Given the description of an element on the screen output the (x, y) to click on. 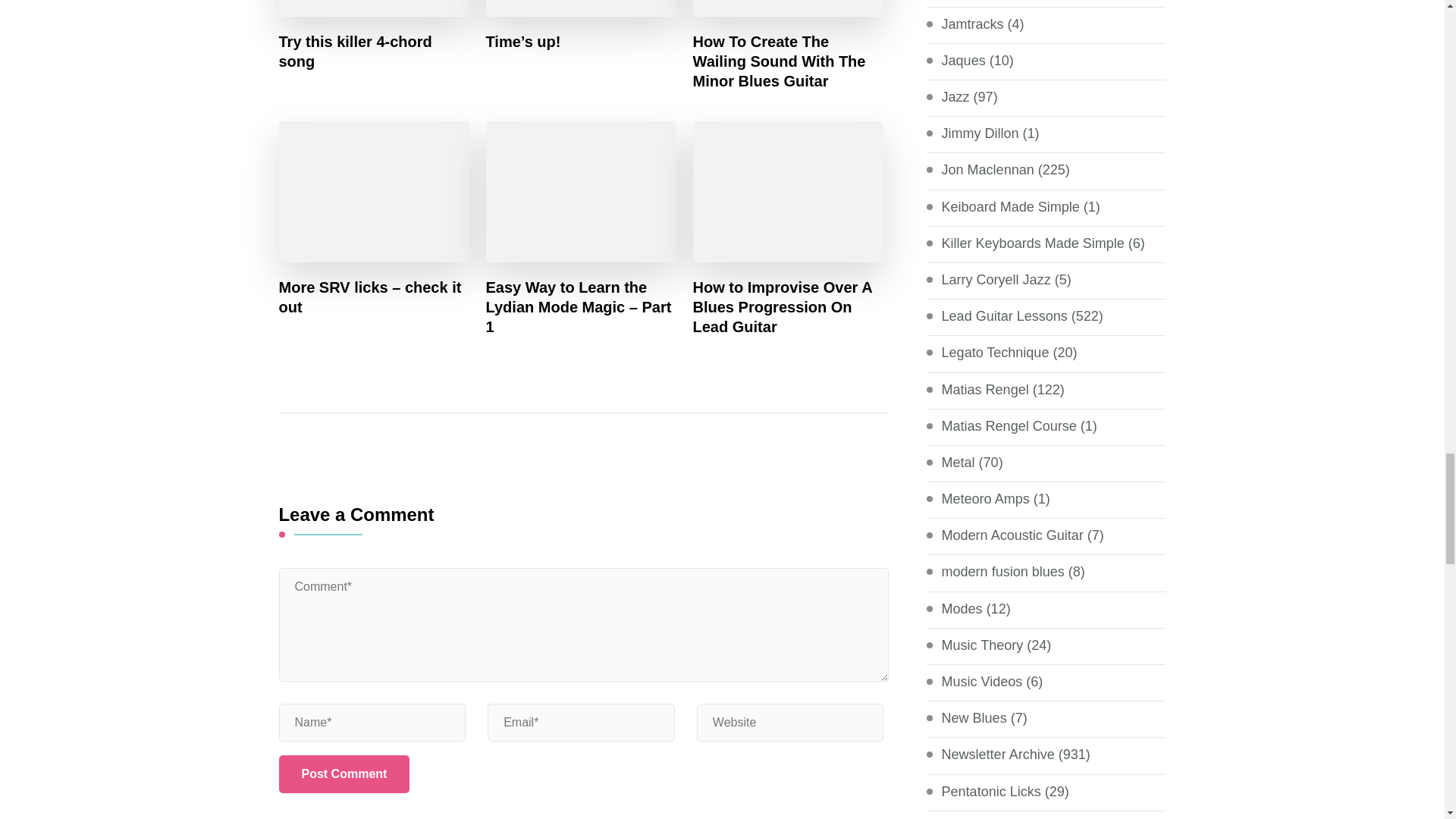
Try this killer 4-chord song (374, 51)
Post Comment (344, 774)
How To Create The Wailing Sound With The Minor Blues Guitar (788, 60)
